Given the description of an element on the screen output the (x, y) to click on. 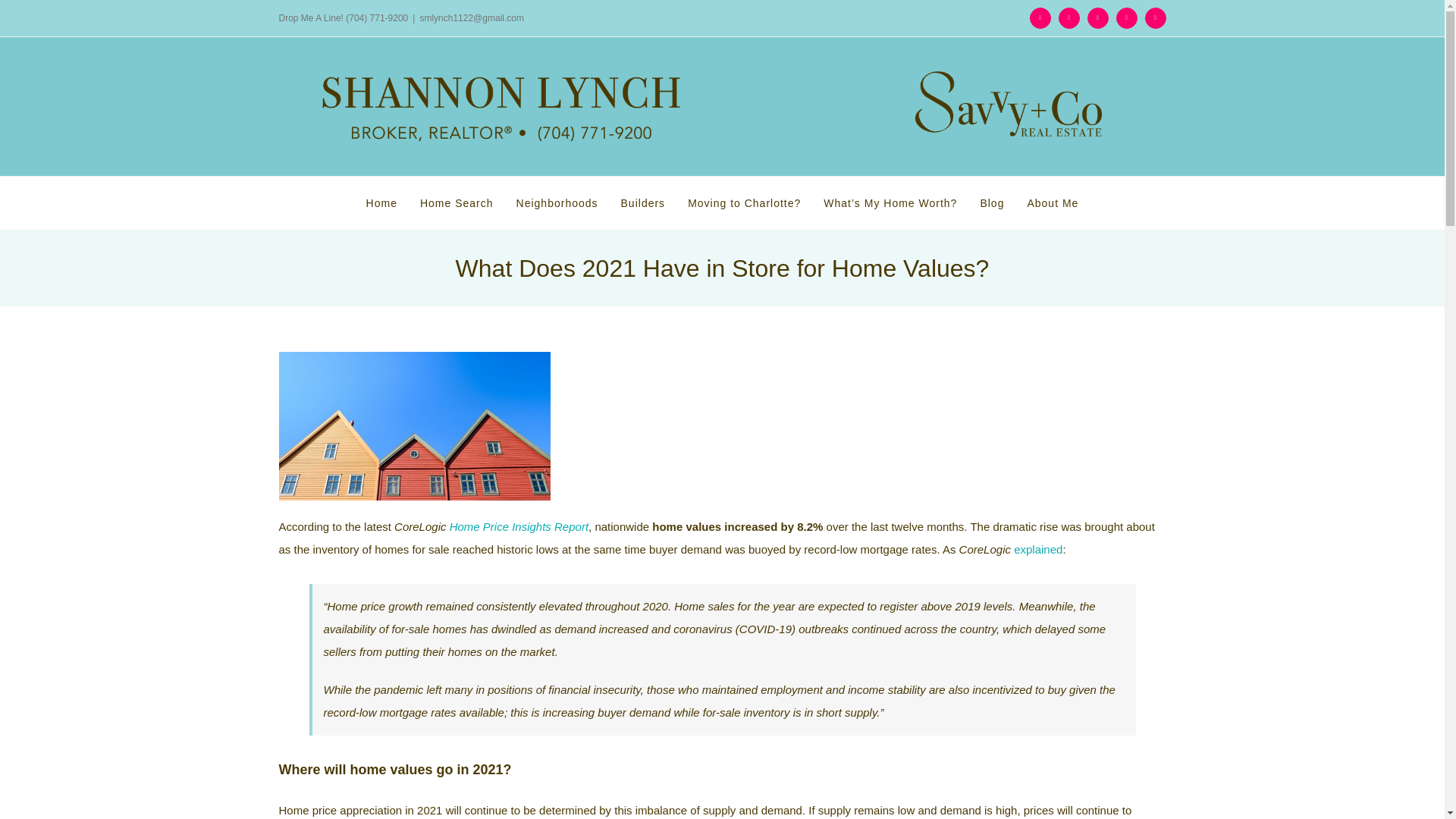
Facebook (1040, 17)
Home Search (456, 203)
Twitter (1126, 17)
LinkedIn (1069, 17)
Home (381, 203)
Neighborhoods (557, 203)
Instagram (1097, 17)
Email (1155, 17)
